Given the description of an element on the screen output the (x, y) to click on. 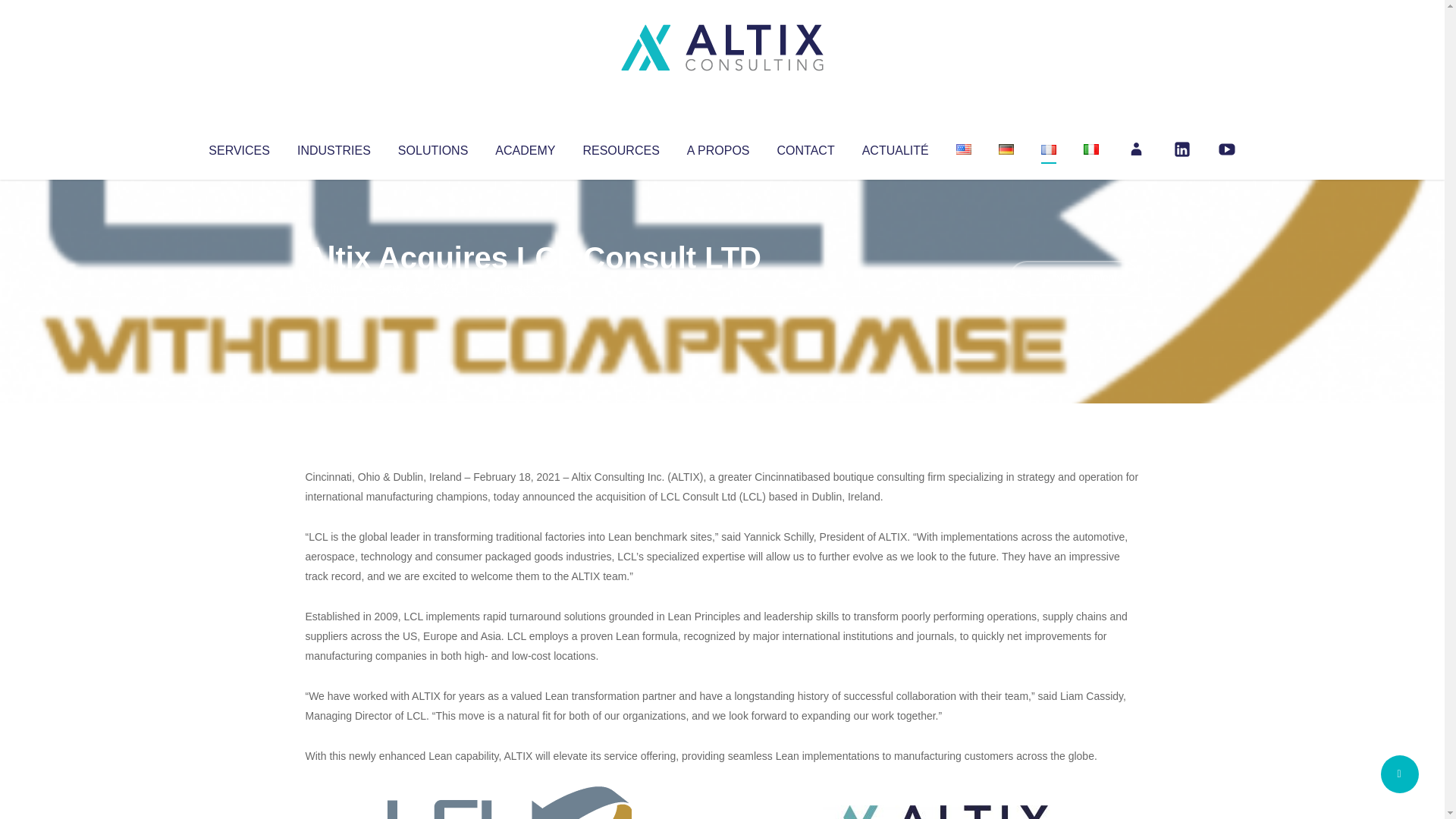
SOLUTIONS (432, 146)
Articles par Altix (333, 287)
RESOURCES (620, 146)
ACADEMY (524, 146)
Altix (333, 287)
SERVICES (238, 146)
Uncategorized (530, 287)
No Comments (1073, 278)
INDUSTRIES (334, 146)
A PROPOS (718, 146)
